Given the description of an element on the screen output the (x, y) to click on. 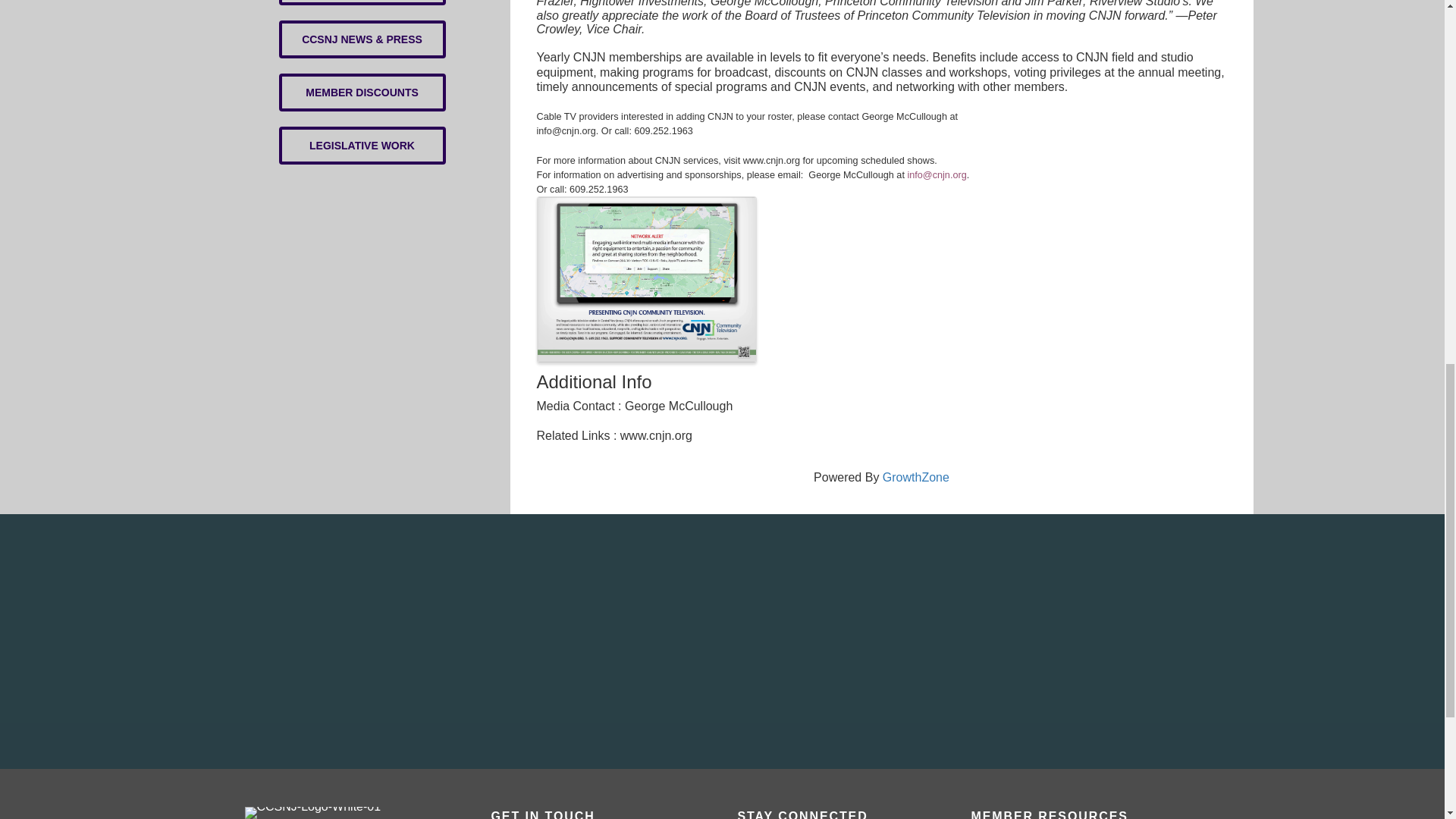
CCSNJ-Logo-White-01 (312, 812)
